Given the description of an element on the screen output the (x, y) to click on. 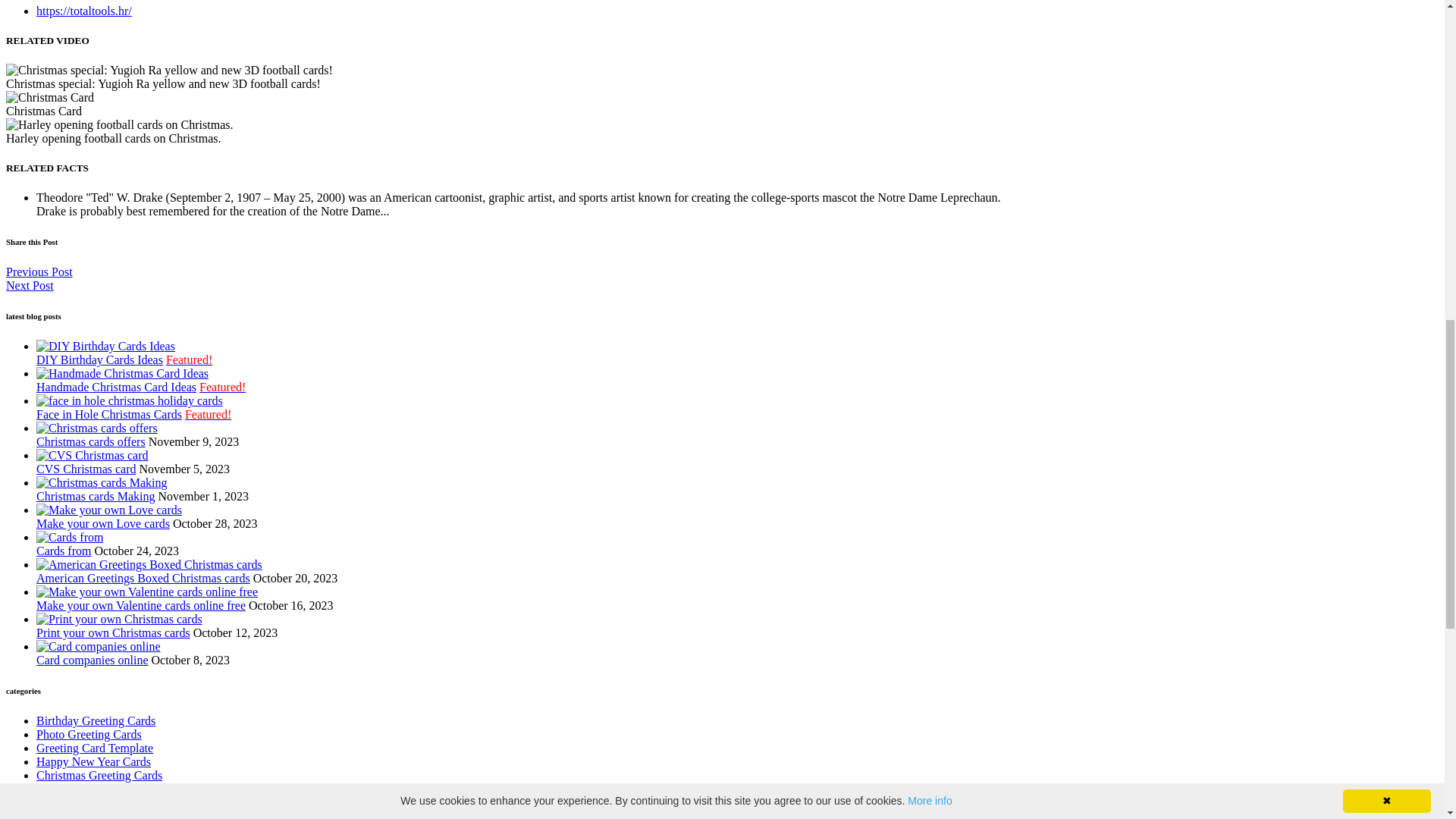
View all posts filed under Create Your Own Cards (94, 814)
Christmas cards offers (90, 440)
View all posts filed under Photo Greeting Cards (88, 734)
View all posts filed under Happy New Year Cards (93, 761)
Featured! (207, 413)
Face in Hole Christmas Cards (109, 413)
View all posts filed under Thank You Cards (78, 788)
Christmas cards Making (95, 495)
CVS Christmas card (86, 468)
Handmade Christmas Card Ideas (116, 386)
